Given the description of an element on the screen output the (x, y) to click on. 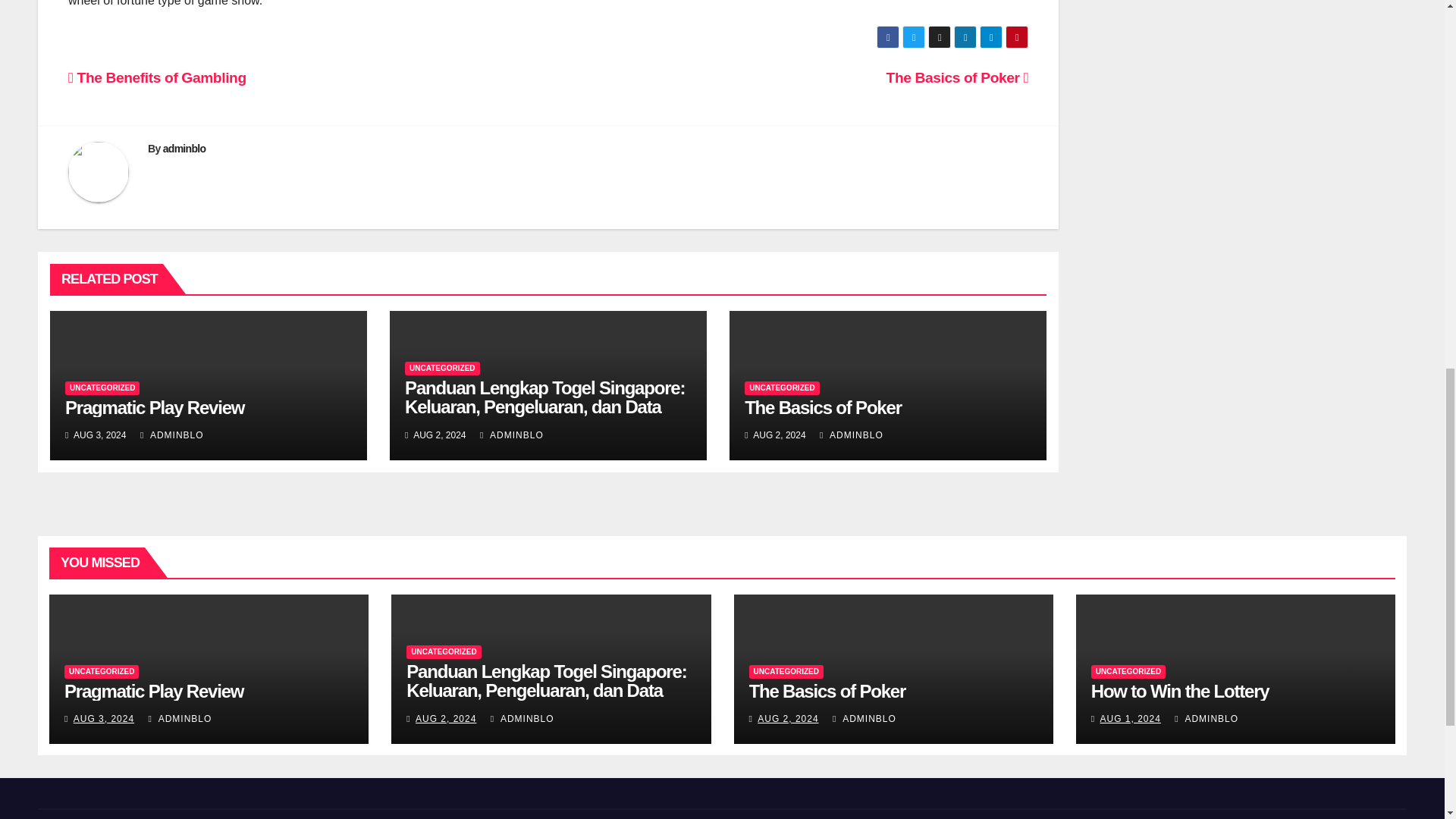
UNCATEGORIZED (102, 387)
The Benefits of Gambling (157, 77)
ADMINBLO (851, 434)
The Basics of Poker (822, 407)
UNCATEGORIZED (441, 368)
UNCATEGORIZED (781, 387)
ADMINBLO (171, 434)
Pragmatic Play Review (154, 407)
Permalink to: The Basics of Poker (827, 690)
Permalink to: Pragmatic Play Review (154, 407)
ADMINBLO (511, 434)
Permalink to: Pragmatic Play Review (153, 690)
adminblo (184, 148)
Permalink to: The Basics of Poker (822, 407)
